Given the description of an element on the screen output the (x, y) to click on. 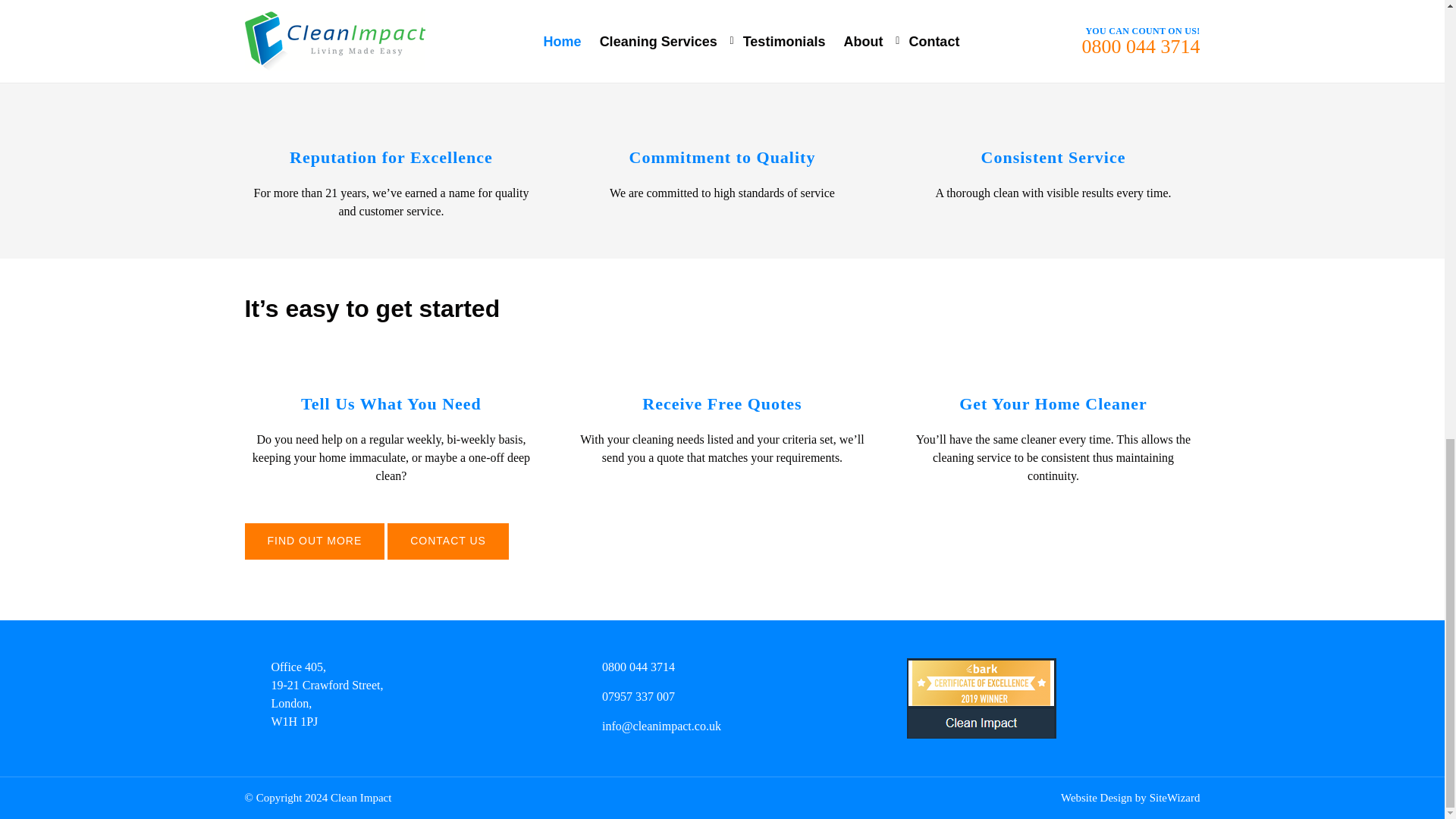
SiteWizard (1174, 797)
CONTACT US (447, 541)
07957 337 007 (638, 696)
0800 044 3714 (638, 667)
FIND OUT MORE (314, 541)
